Given the description of an element on the screen output the (x, y) to click on. 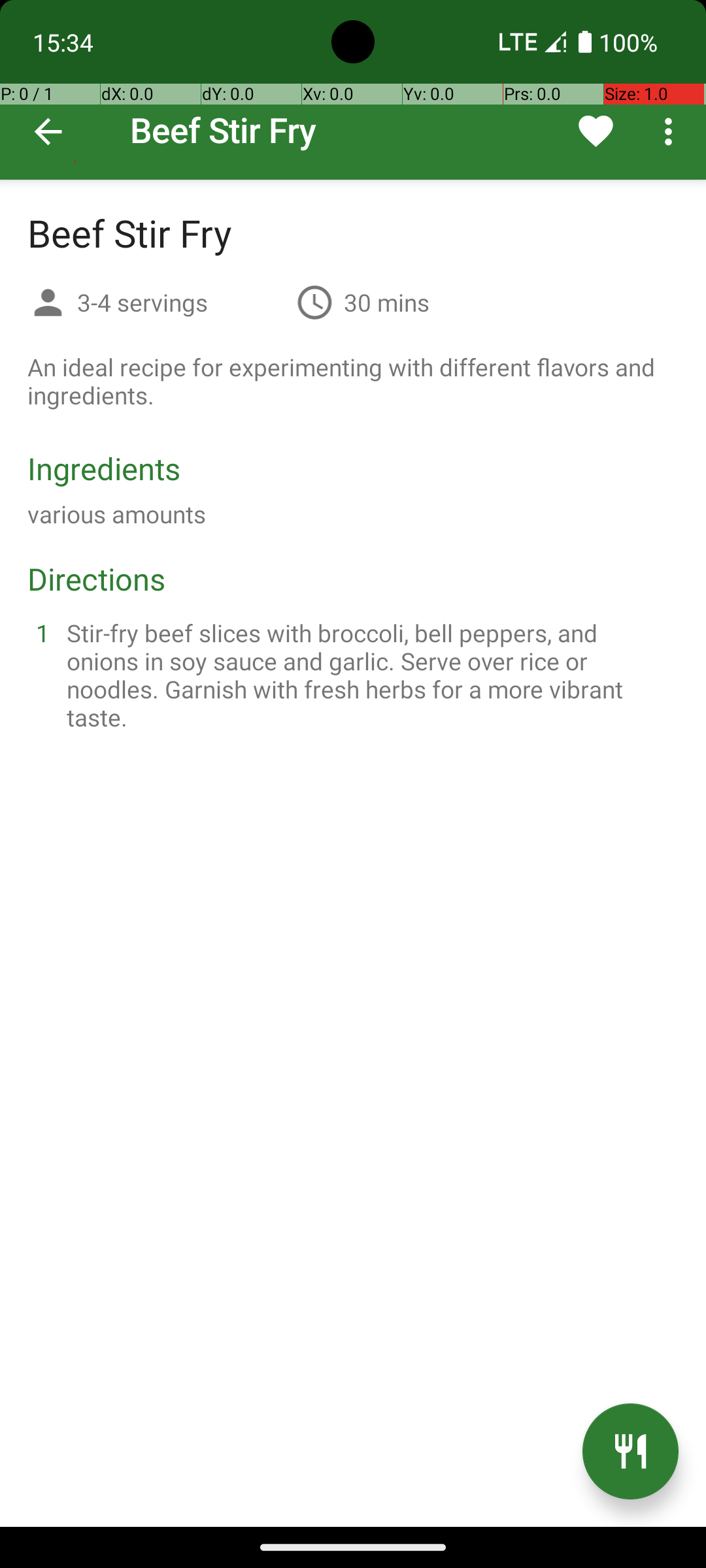
Stir-fry beef slices with broccoli, bell peppers, and onions in soy sauce and garlic. Serve over rice or noodles. Garnish with fresh herbs for a more vibrant taste. Element type: android.widget.TextView (368, 674)
